Given the description of an element on the screen output the (x, y) to click on. 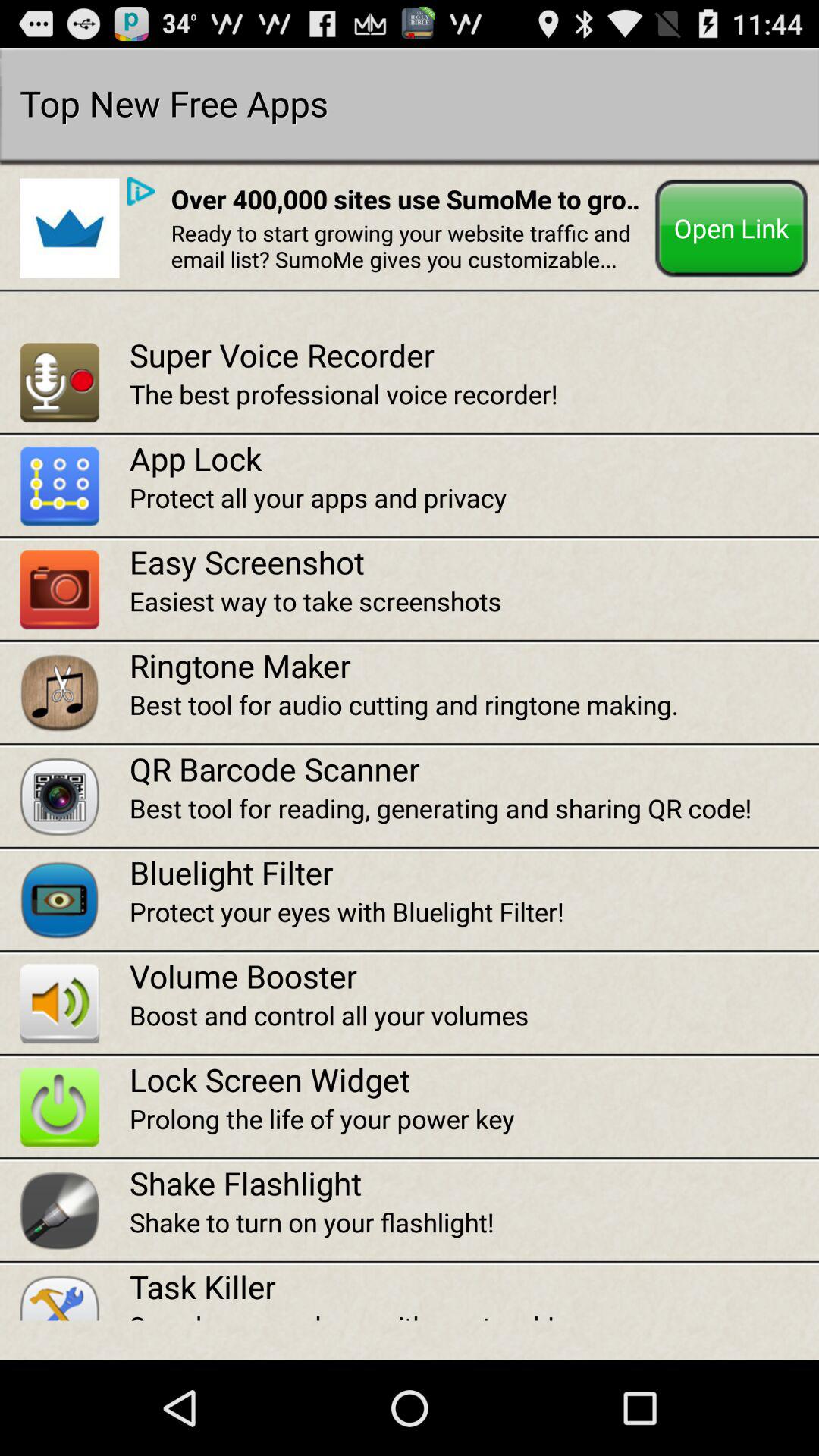
tap item below the boost and control app (474, 1079)
